Given the description of an element on the screen output the (x, y) to click on. 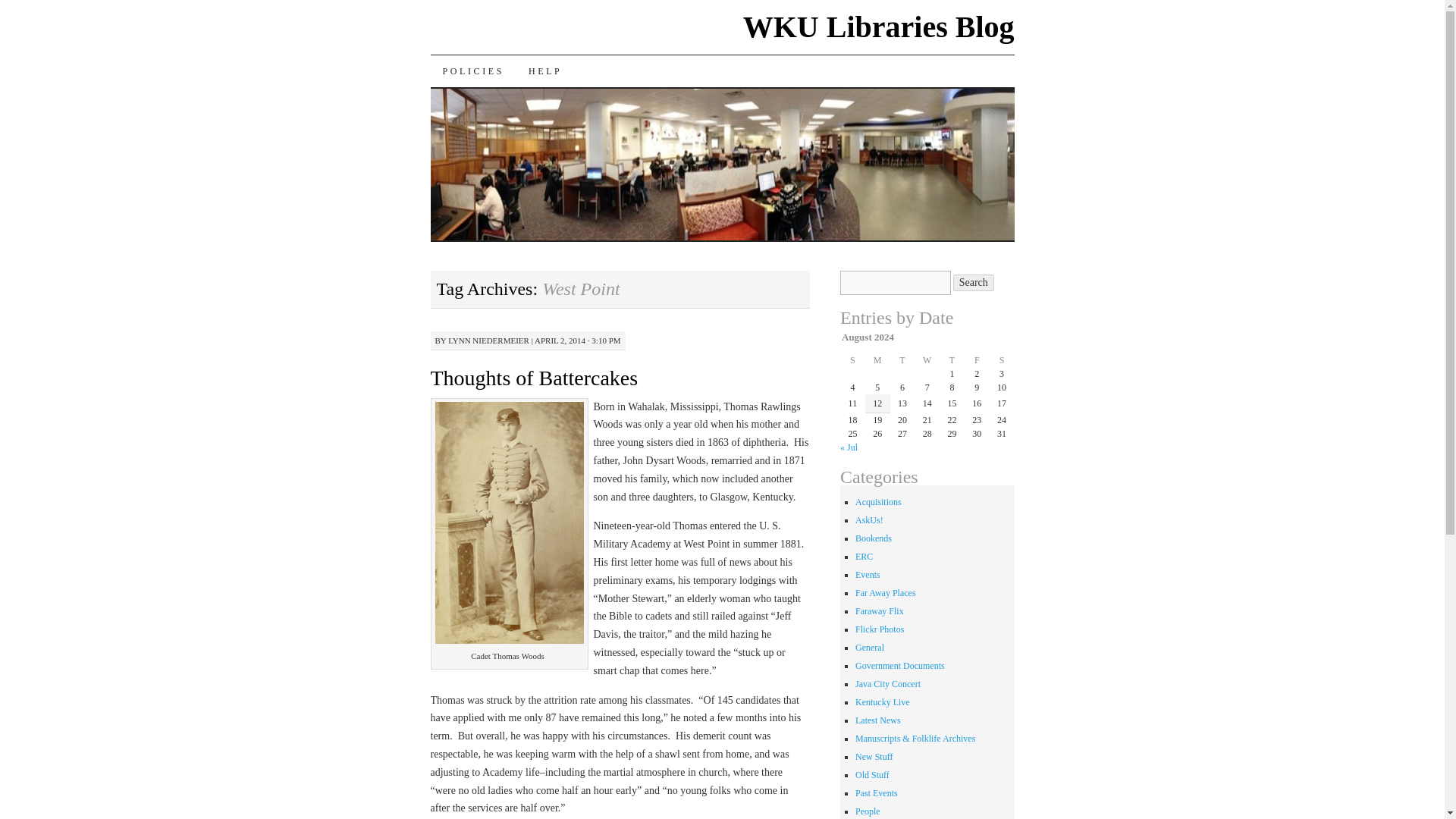
Monday (876, 359)
HELP (544, 70)
View all posts by Lynn Niedermeier (488, 339)
Search (973, 282)
Acquisitions (878, 501)
Flickr Photos (880, 629)
Sunday (852, 359)
Search (973, 282)
Government Documents (900, 665)
Kentucky Live (883, 701)
